Given the description of an element on the screen output the (x, y) to click on. 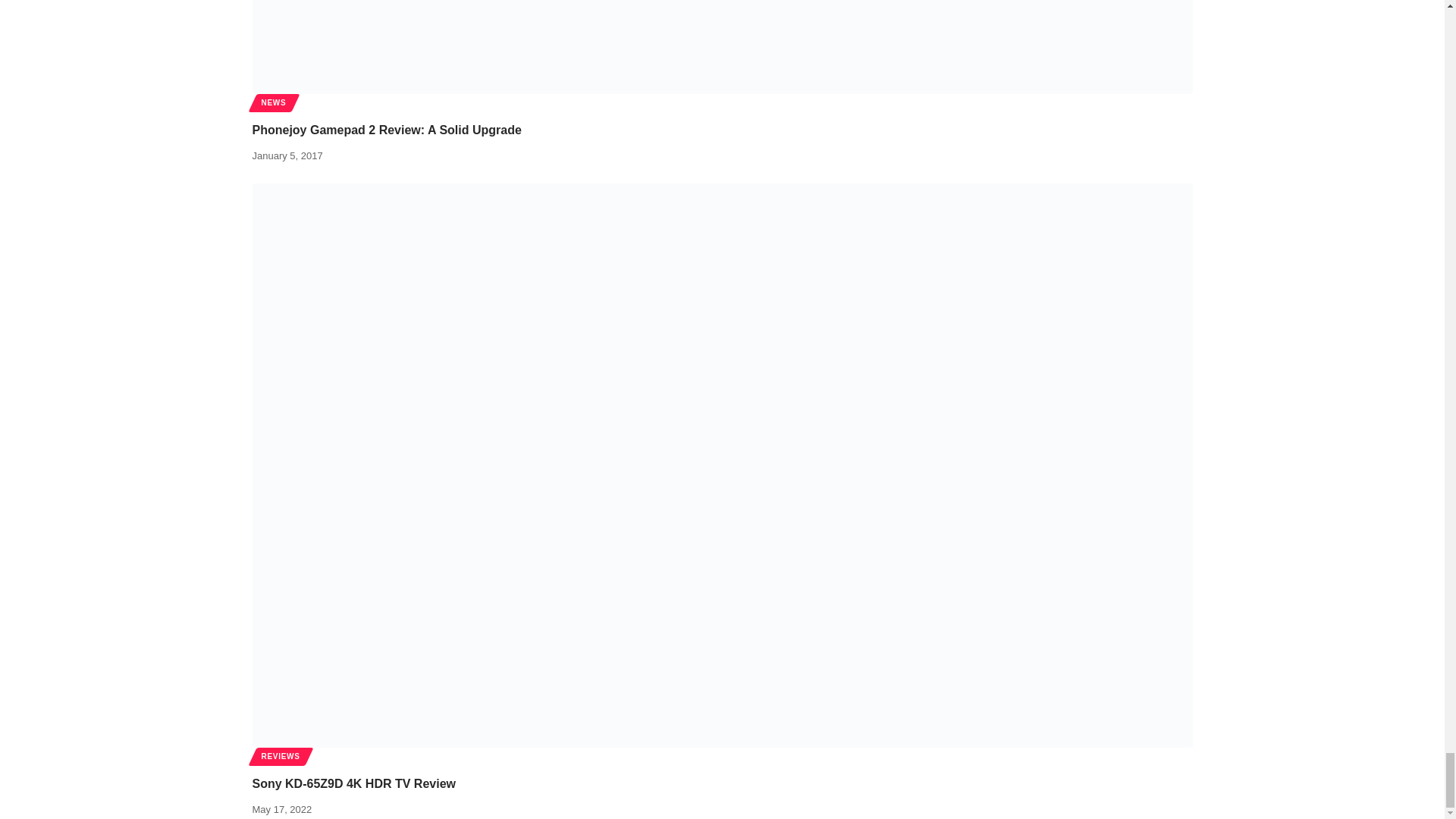
Phonejoy Gamepad 2 Review: A Solid Upgrade (721, 47)
